Given the description of an element on the screen output the (x, y) to click on. 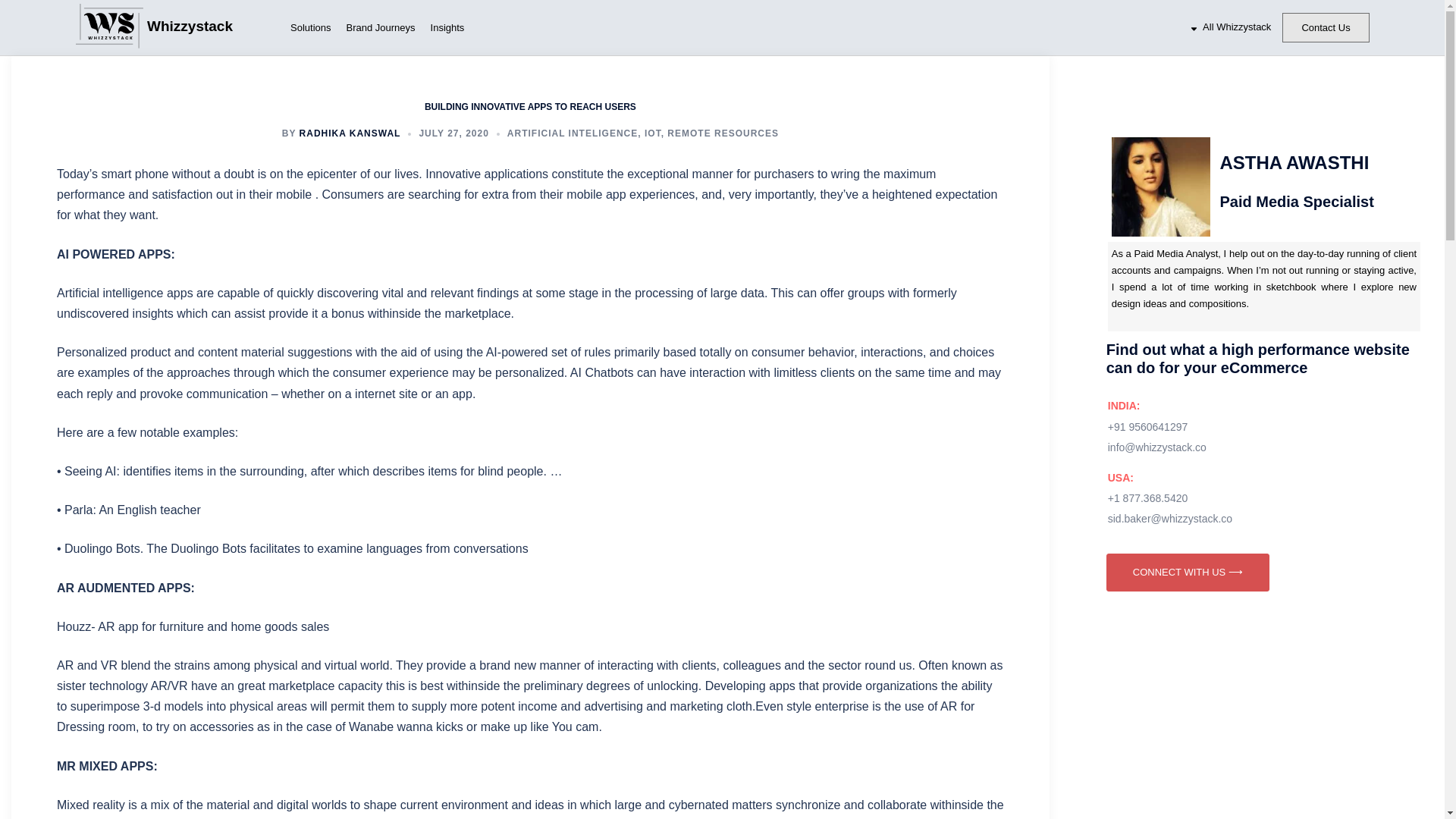
Whizzystack (214, 27)
IOT (653, 132)
REMOTE RESOURCES (722, 132)
Solutions (309, 28)
All Whizzystack (1230, 27)
JULY 27, 2020 (453, 132)
Contact Us (1325, 27)
RADHIKA KANSWAL (350, 132)
Brand Journeys (379, 28)
Insights (447, 28)
ARTIFICIAL INTELIGENCE (571, 132)
